Given the description of an element on the screen output the (x, y) to click on. 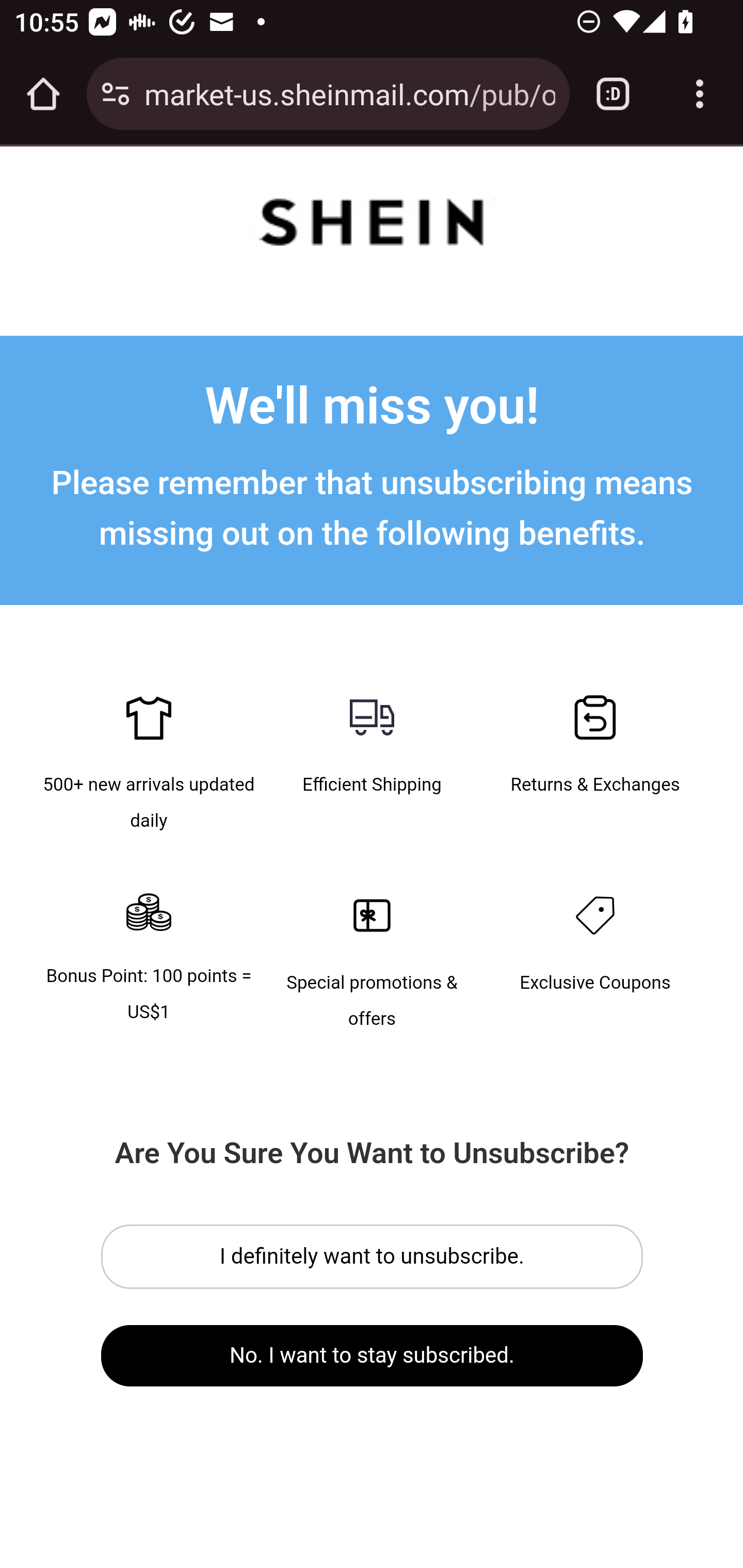
Open the home page (43, 93)
Connection is secure (115, 93)
Switch or close tabs (612, 93)
Customize and control Google Chrome (699, 93)
shein (371, 225)
I definitely want to unsubscribe. (372, 1256)
No. I want to stay subscribed. (372, 1355)
